Given the description of an element on the screen output the (x, y) to click on. 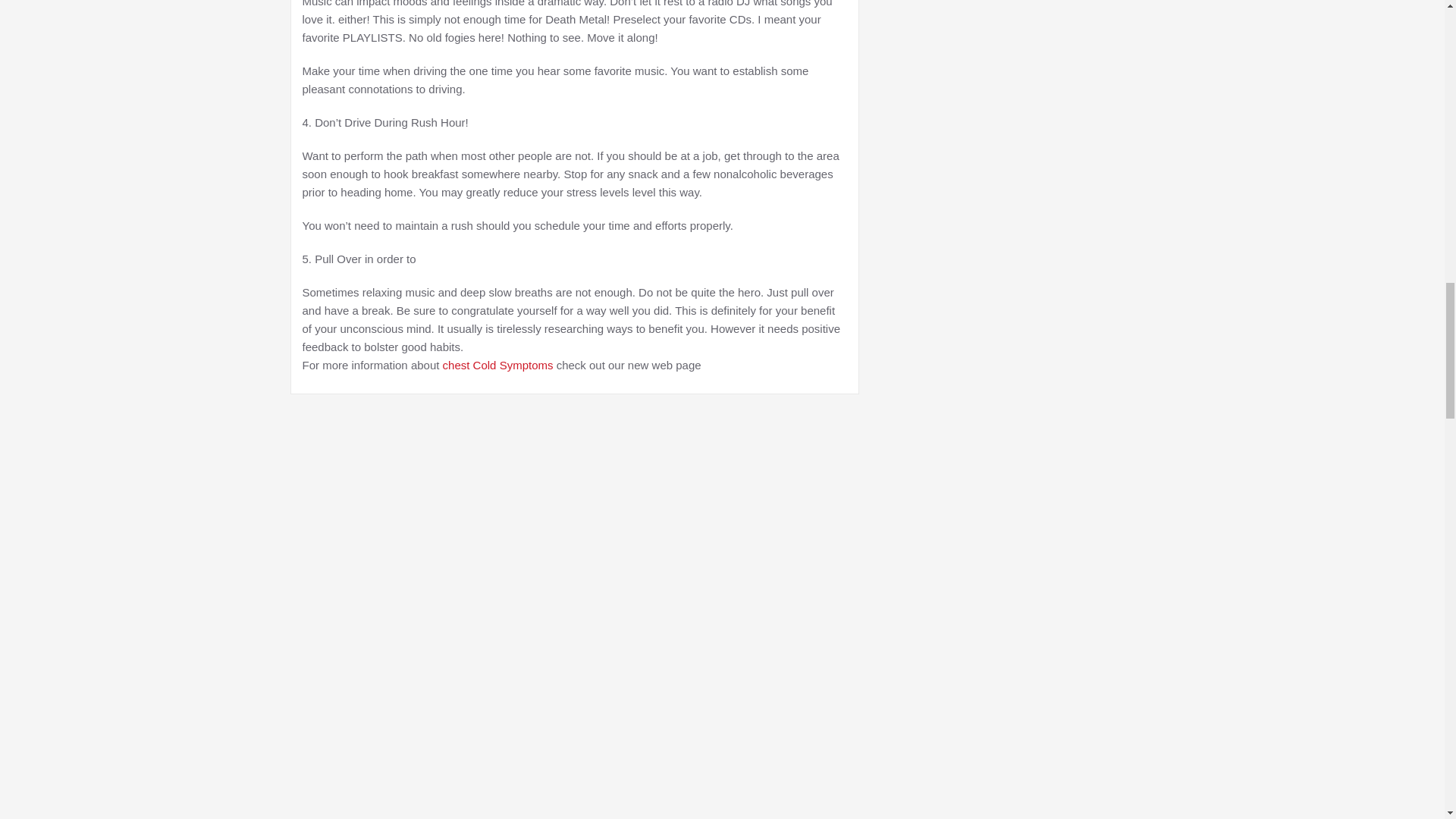
chest Cold Symptoms (497, 364)
